Given the description of an element on the screen output the (x, y) to click on. 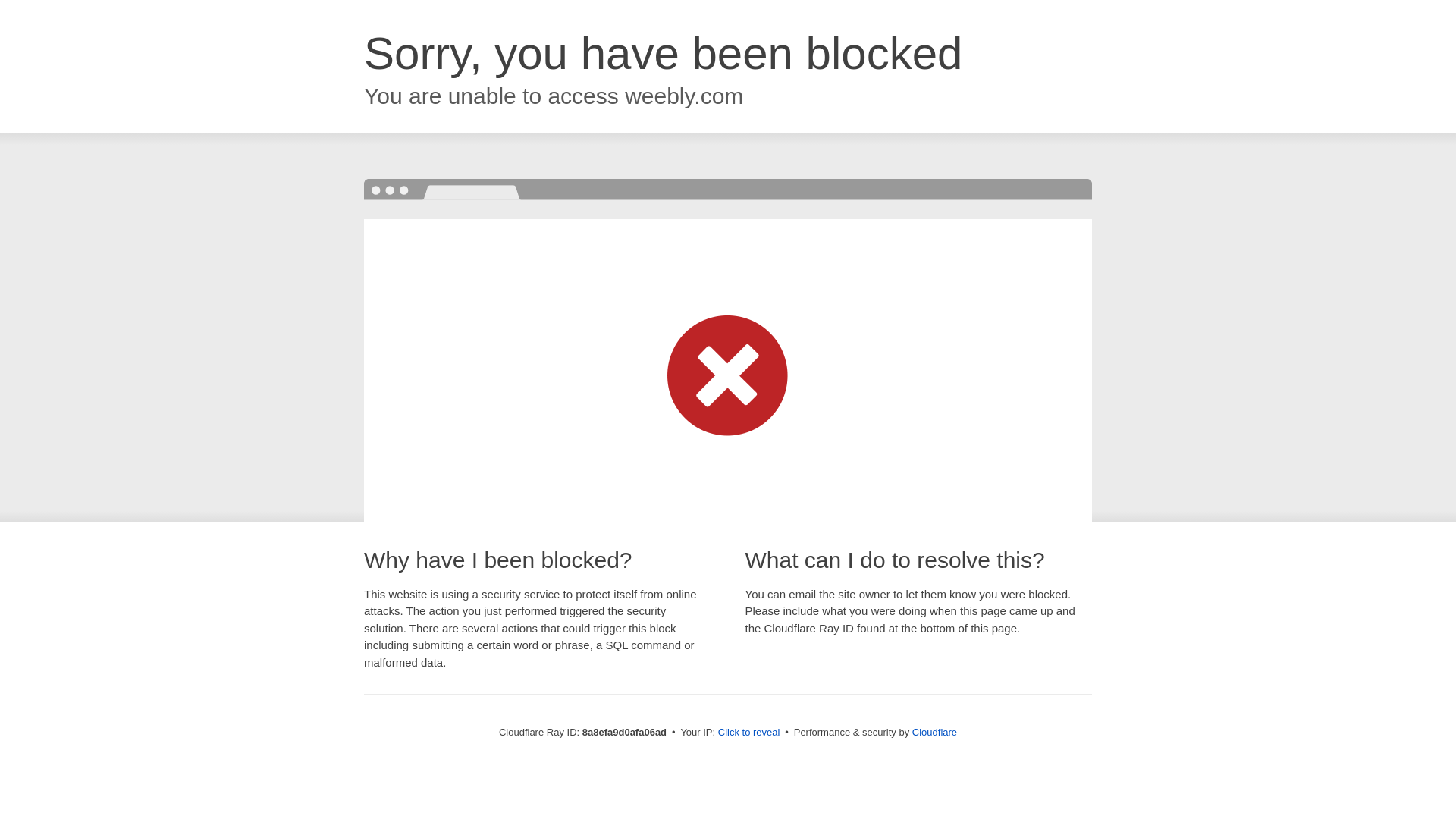
Click to reveal (748, 732)
Cloudflare (934, 731)
